Given the description of an element on the screen output the (x, y) to click on. 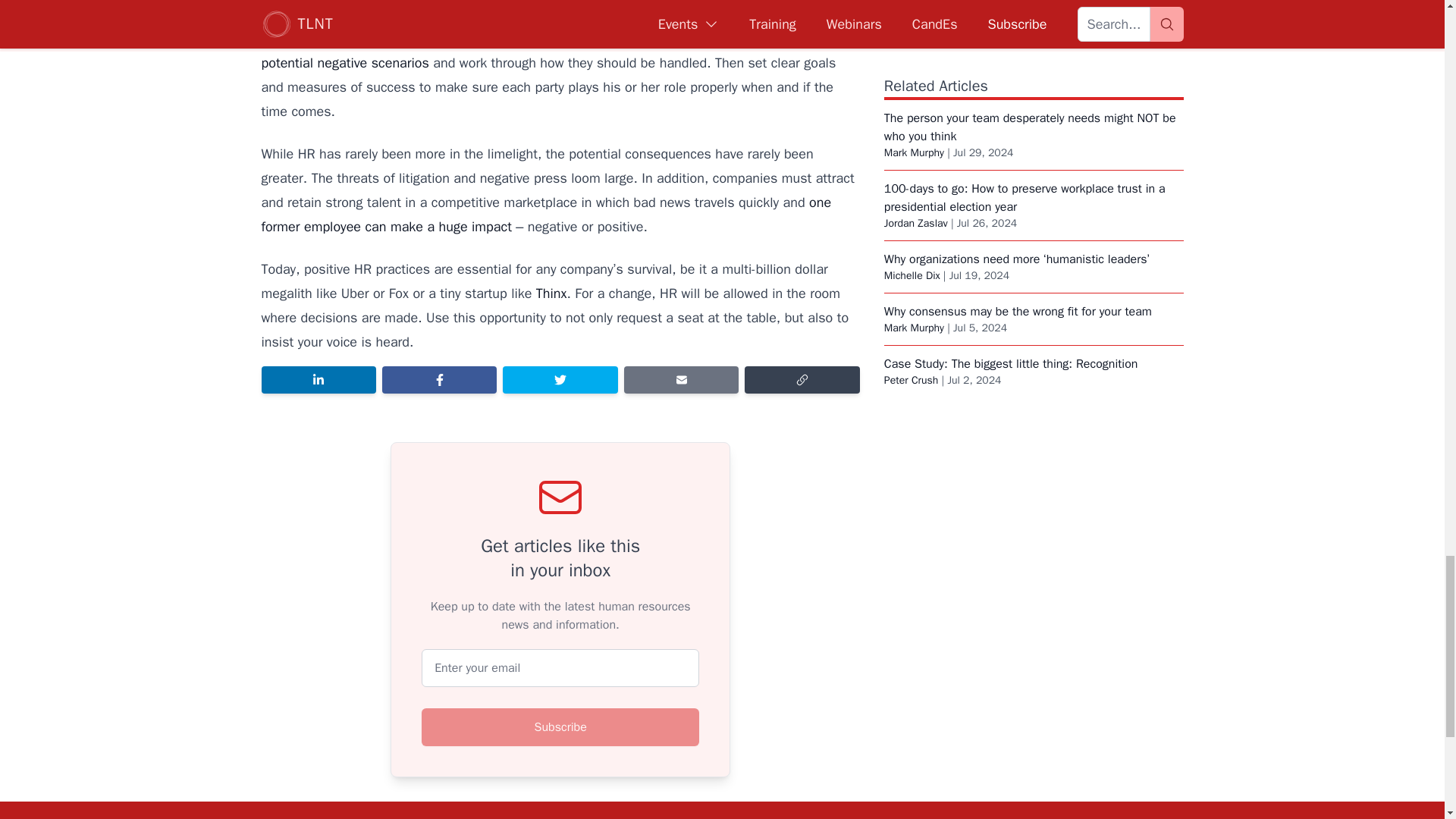
Review potential negative scenarios (532, 50)
Subscribe (560, 727)
one former employee can make a huge impact (545, 214)
Thinx (551, 293)
